Given the description of an element on the screen output the (x, y) to click on. 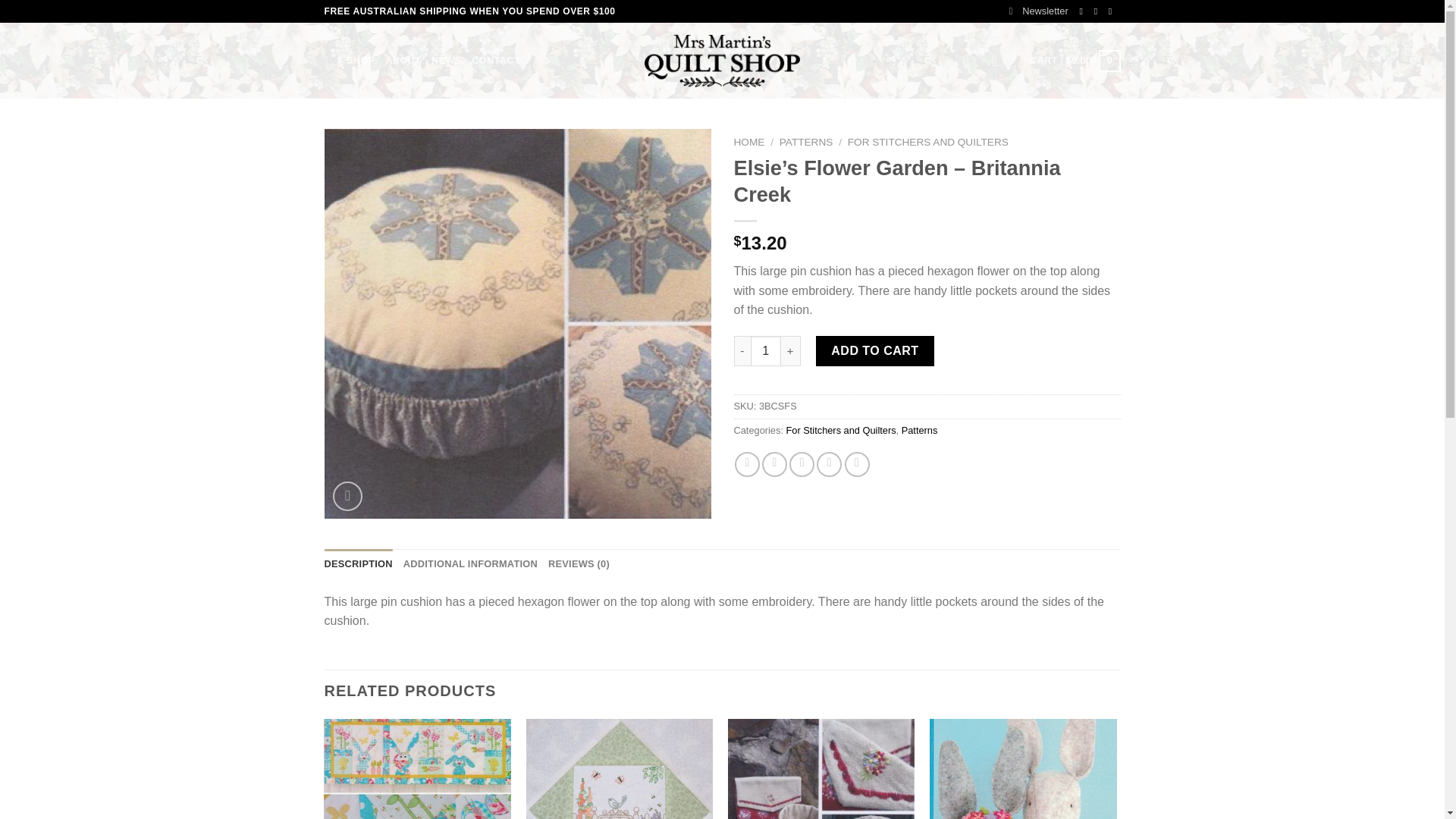
Zoom (347, 496)
Share on Twitter (774, 464)
Share on LinkedIn (856, 464)
PATTERNS (805, 142)
ABOUT (402, 60)
1 (765, 350)
CONTACT (495, 60)
ADD TO CART (874, 350)
Share on Facebook (747, 464)
FOR STITCHERS AND QUILTERS (928, 142)
